Given the description of an element on the screen output the (x, y) to click on. 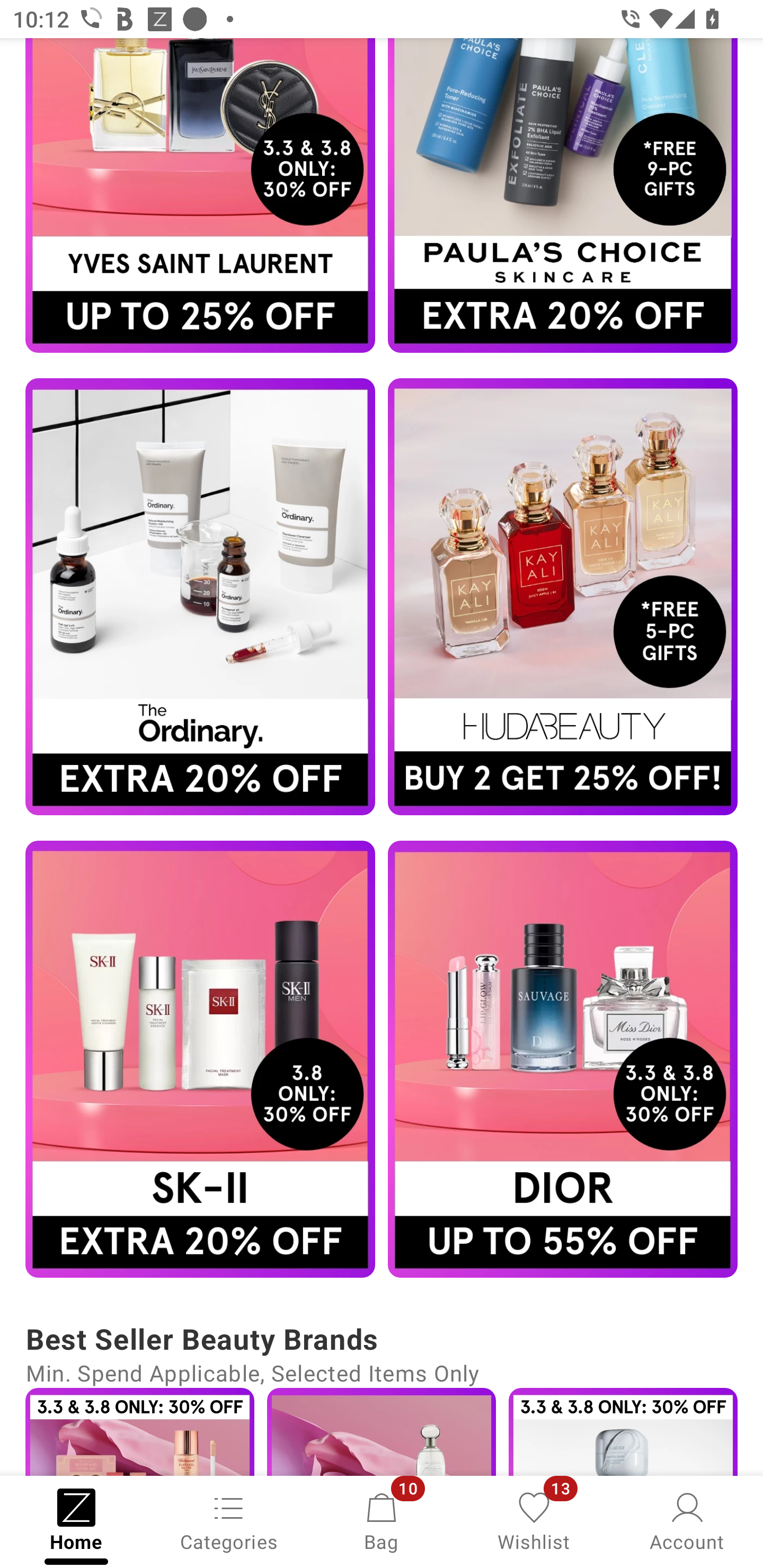
Campaign banner (200, 194)
Campaign banner (562, 194)
Campaign banner (200, 596)
Campaign banner (562, 596)
Campaign banner (200, 1058)
Campaign banner (562, 1058)
Categories (228, 1519)
Bag, 10 new notifications Bag (381, 1519)
Wishlist, 13 new notifications Wishlist (533, 1519)
Account (686, 1519)
